Given the description of an element on the screen output the (x, y) to click on. 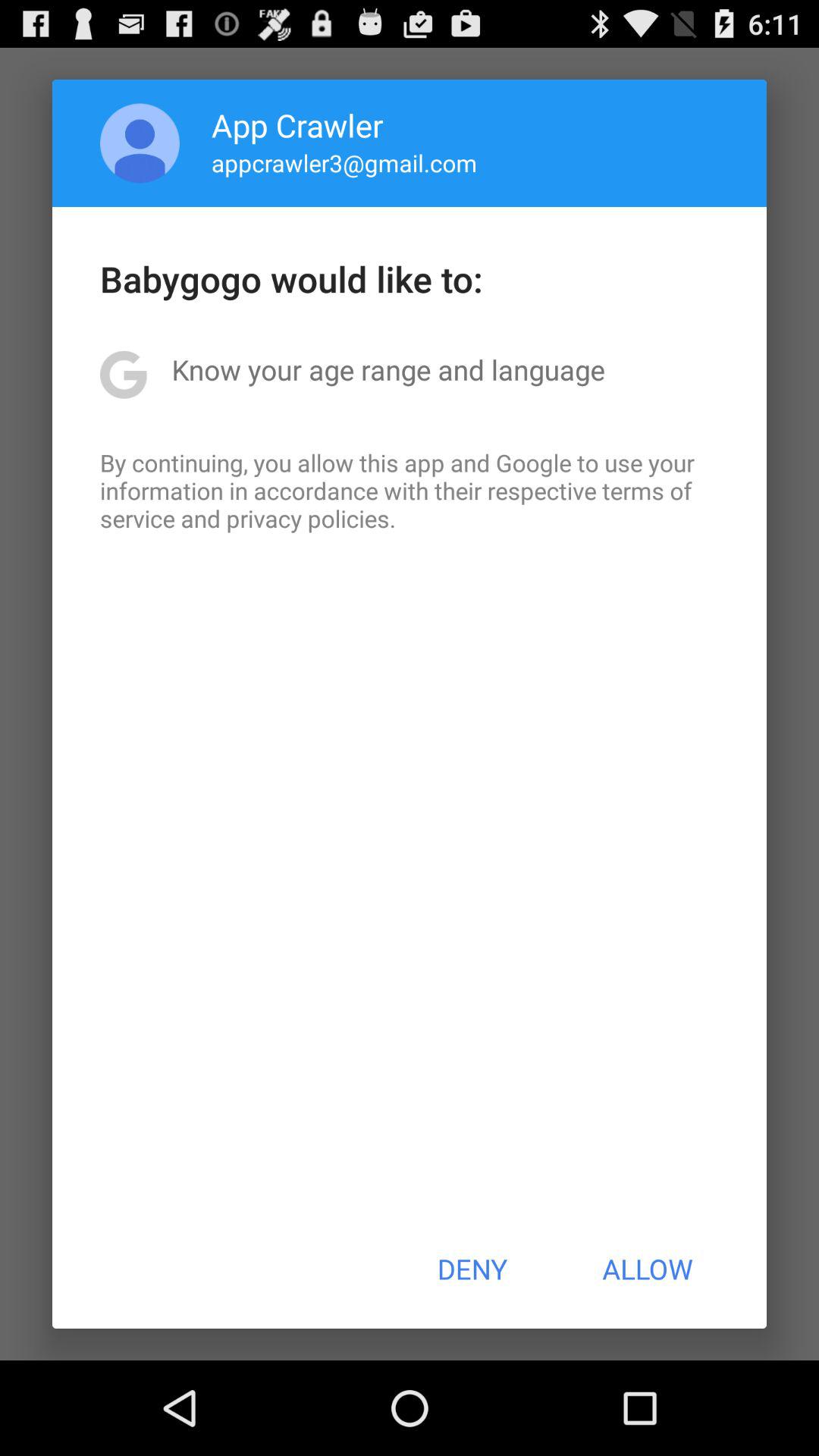
swipe to the know your age (388, 369)
